Given the description of an element on the screen output the (x, y) to click on. 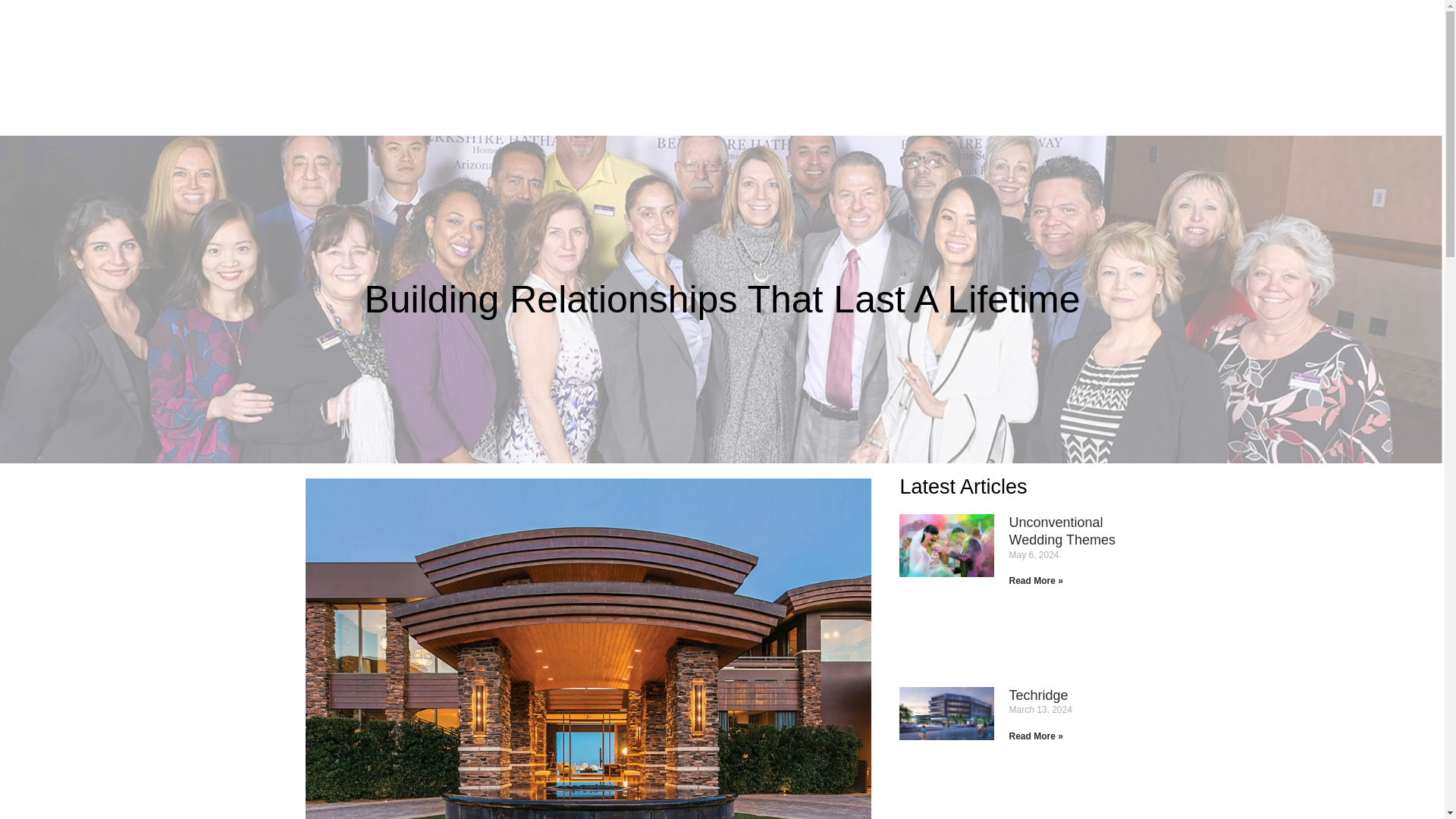
Techridge (1038, 694)
Unconventional Wedding Themes (1062, 531)
